Given the description of an element on the screen output the (x, y) to click on. 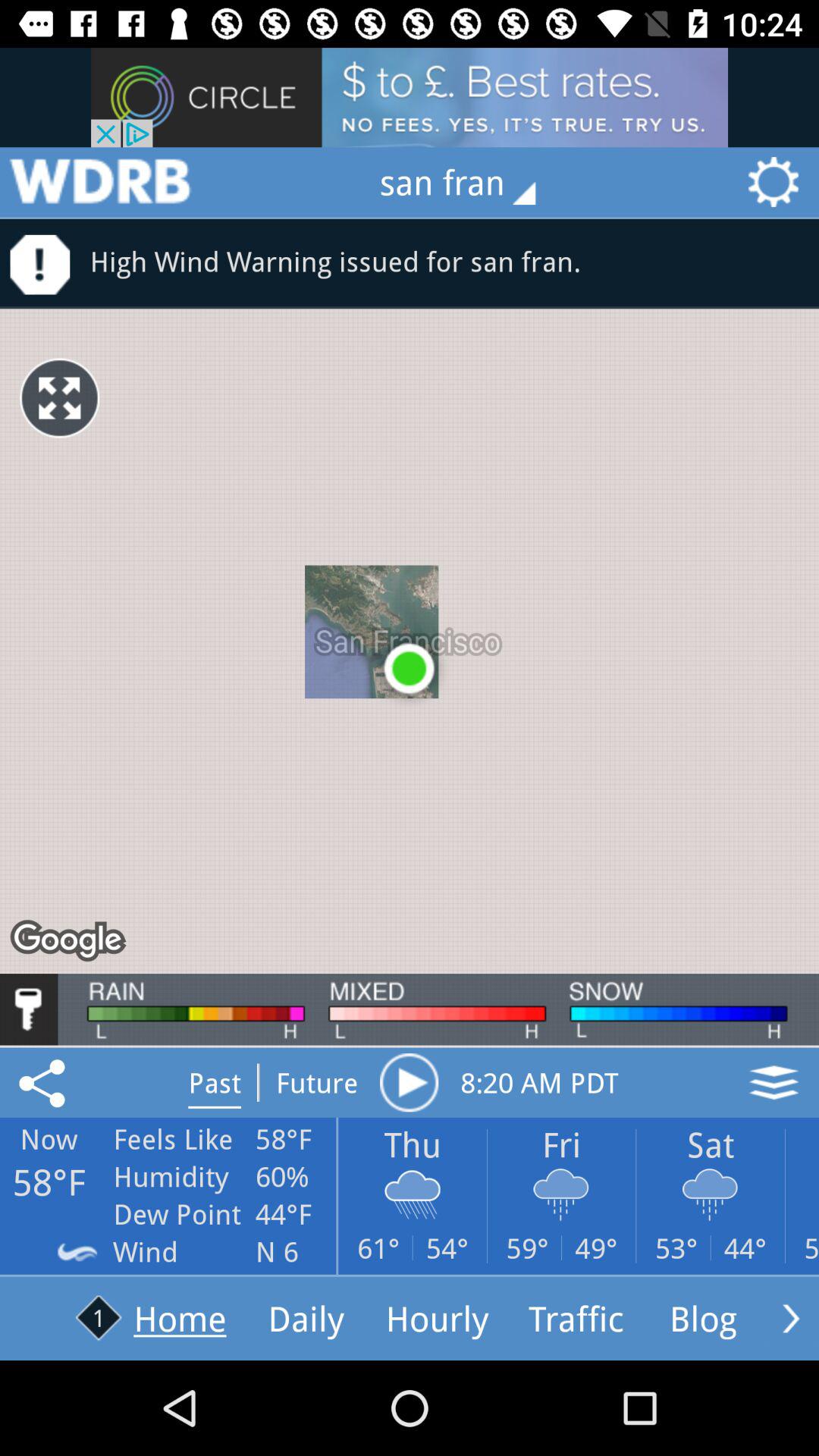
view advertisements (409, 97)
